Given the description of an element on the screen output the (x, y) to click on. 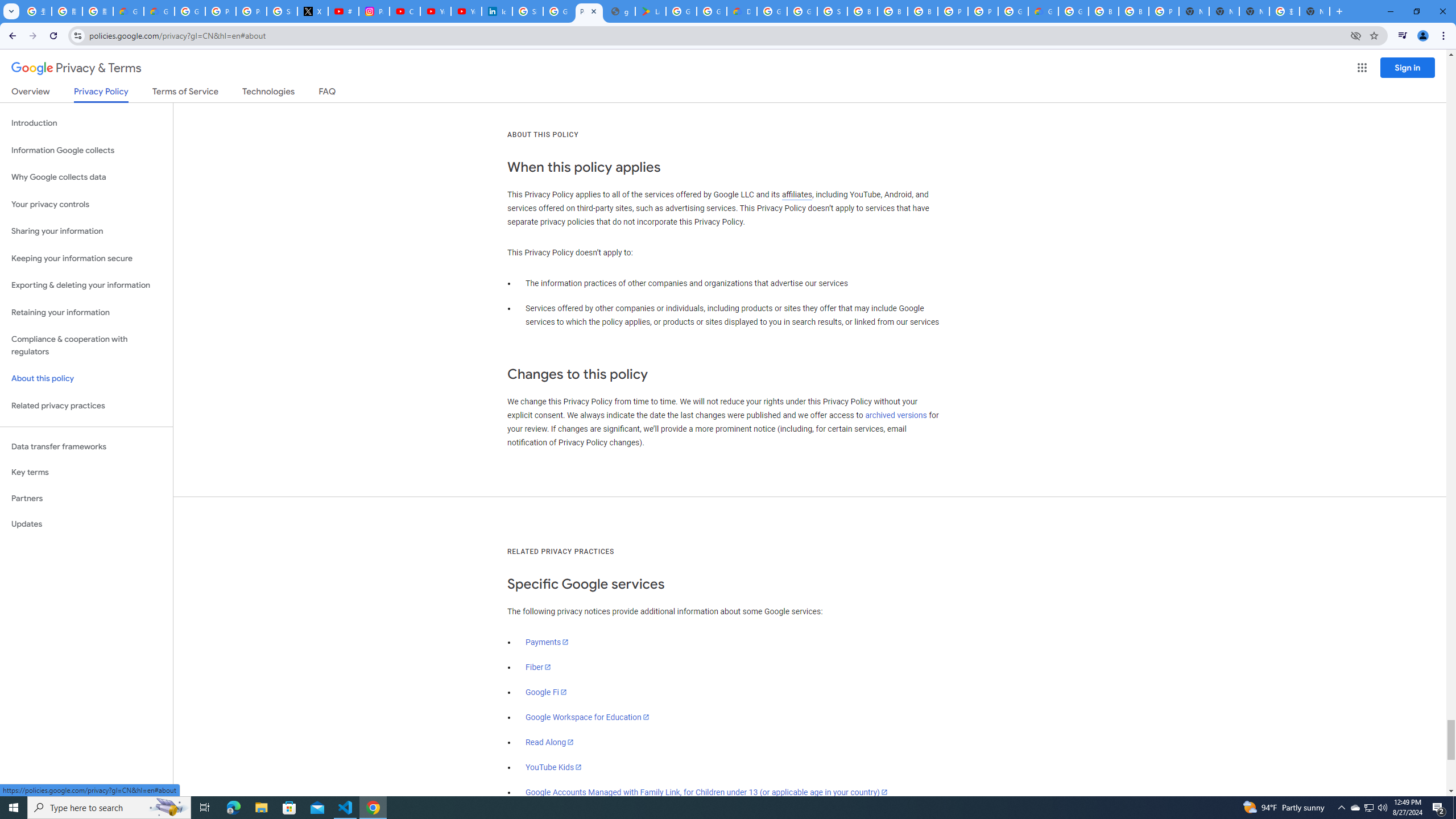
Google Cloud Platform (1072, 11)
